Given the description of an element on the screen output the (x, y) to click on. 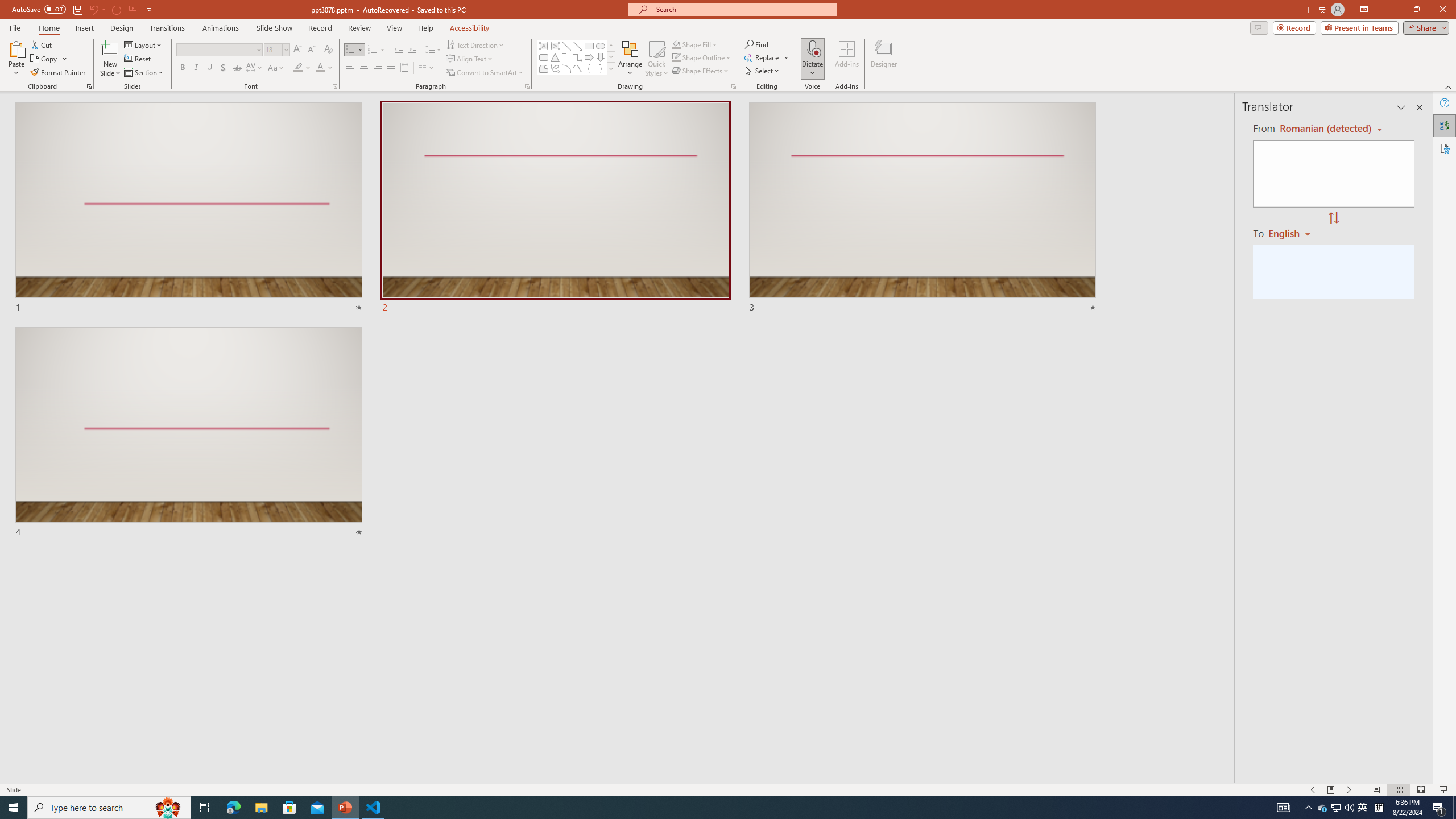
Animations (220, 28)
Collapse the Ribbon (1448, 86)
Review (359, 28)
Format Object... (733, 85)
Format Painter (58, 72)
Comments (1259, 27)
System (6, 6)
Row up (611, 45)
Font Color (324, 67)
Align Right (377, 67)
Class: MsoCommandBar (728, 789)
Office Clipboard... (88, 85)
From Beginning (133, 9)
Numbering (372, 49)
Save (77, 9)
